Given the description of an element on the screen output the (x, y) to click on. 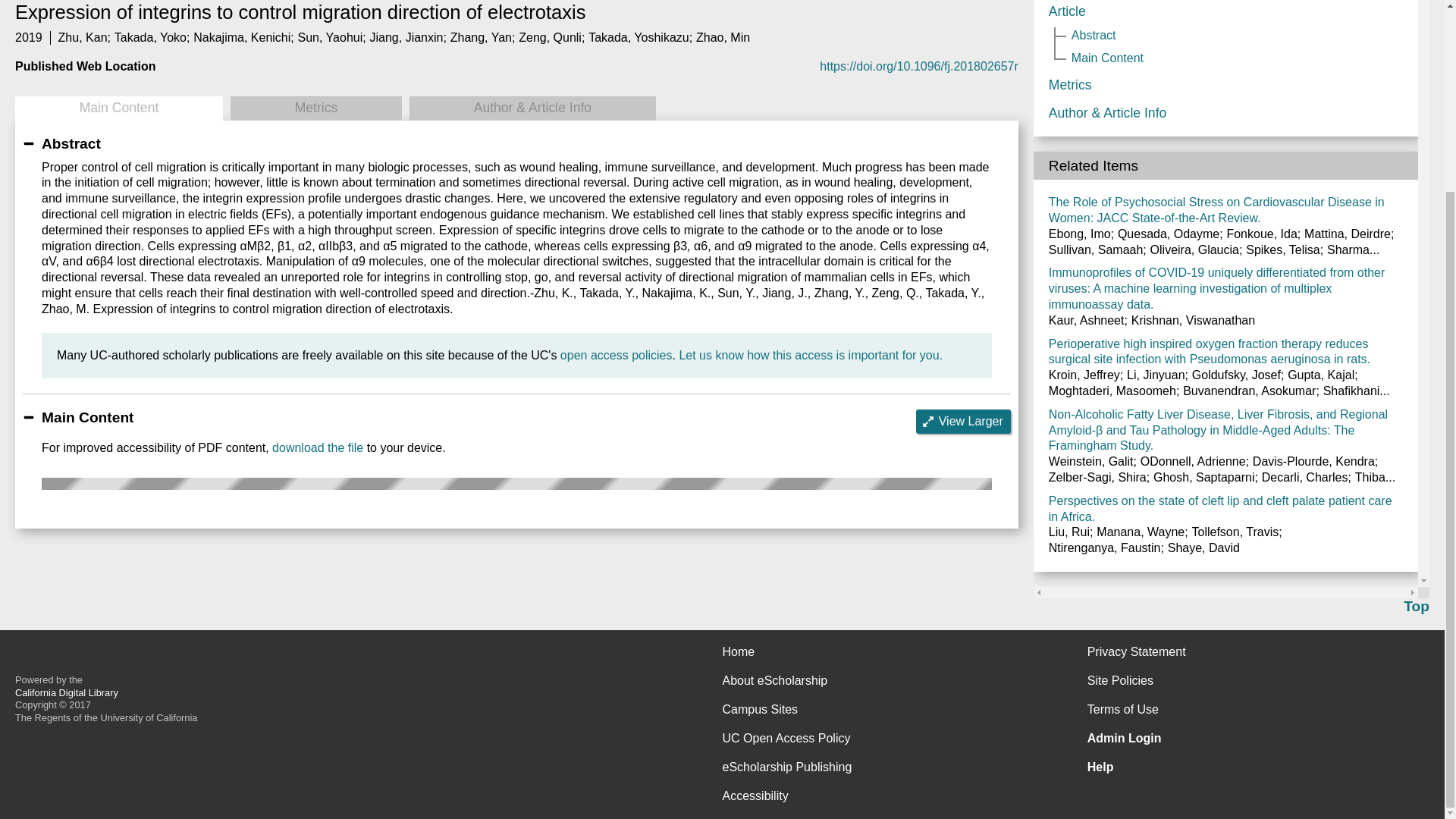
Jiang, Jianxin (406, 37)
Metrics (315, 108)
Zhang, Yan (480, 37)
Takada, Yoshikazu (638, 37)
Zeng, Qunli (549, 37)
Nakajima, Kenichi (241, 37)
Zhao, Min (722, 37)
Let us know how this access is important for you. (810, 354)
Main Content (118, 108)
Takada, Yoko (150, 37)
